Given the description of an element on the screen output the (x, y) to click on. 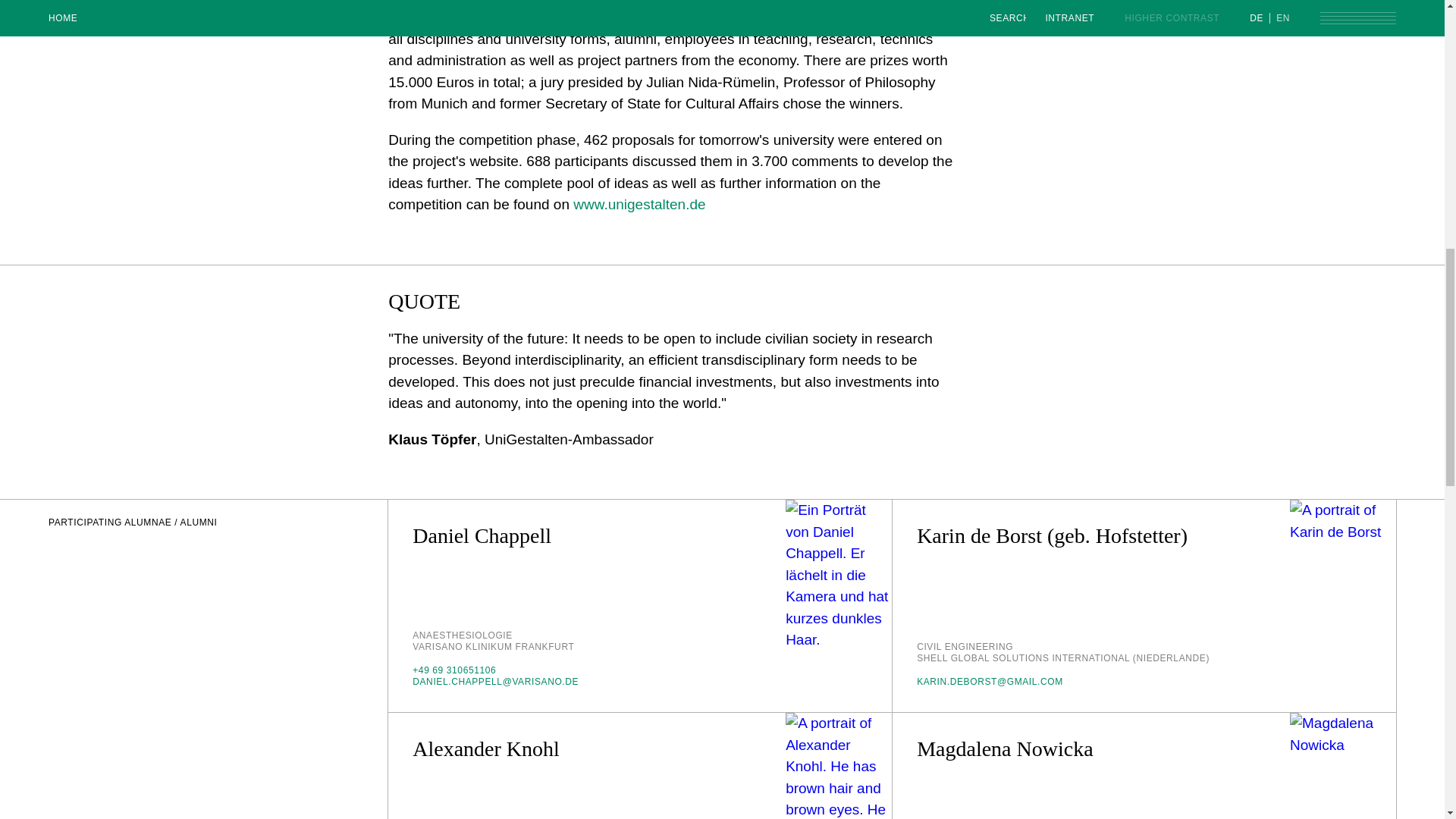
Alexander Knohl (838, 765)
Magdalena Nowicka (1343, 765)
www.unigestalten.de (638, 204)
Daniel Chappell (481, 535)
